Given the description of an element on the screen output the (x, y) to click on. 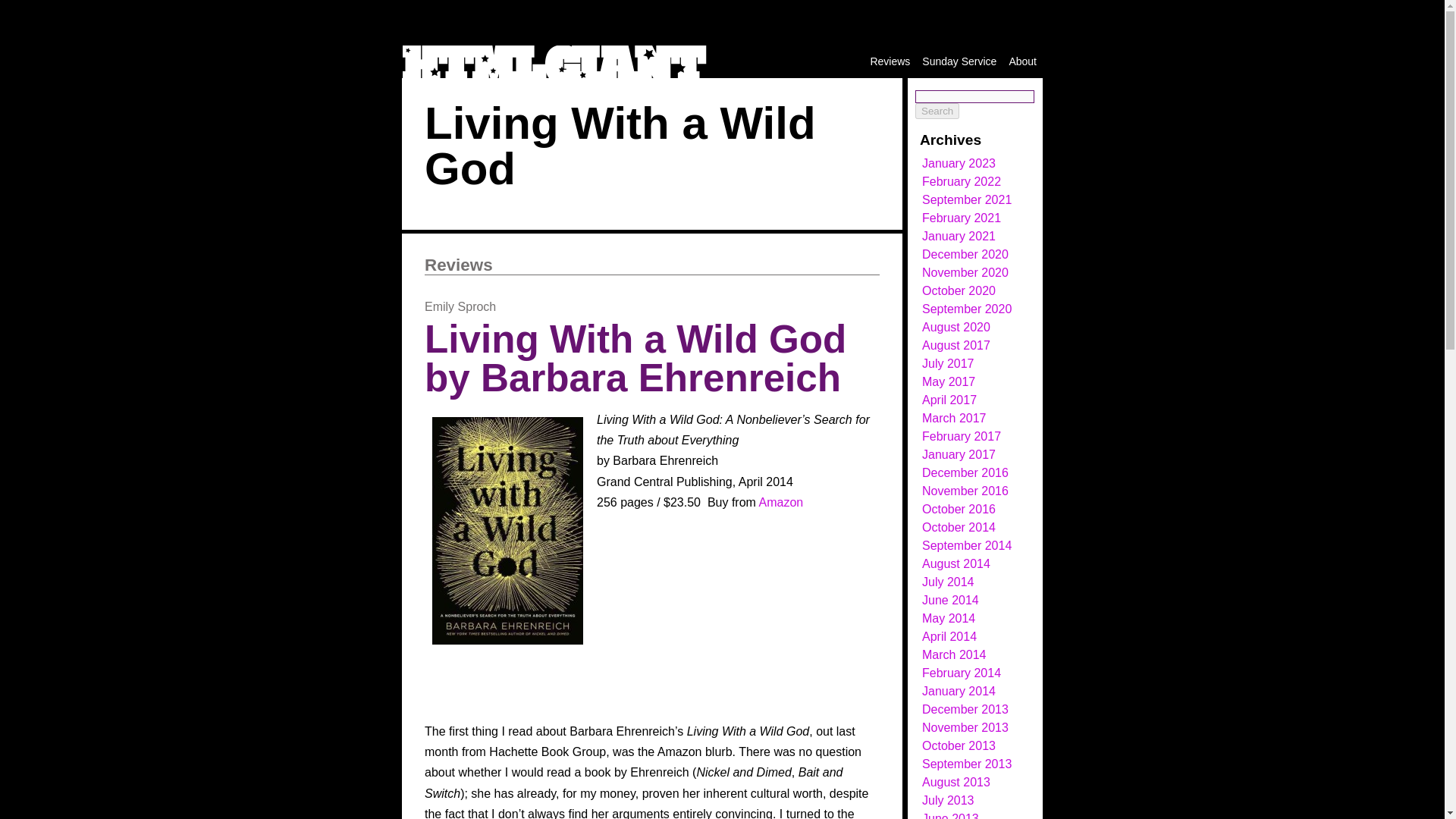
Posts by Emily Sproch (460, 306)
December 2016 (965, 472)
Emily Sproch (460, 306)
September 2020 (966, 308)
July 2014 (947, 581)
January 2017 (958, 454)
Reviews (459, 264)
February 2017 (961, 436)
January 2021 (958, 236)
February 2021 (961, 217)
April 2014 (948, 635)
Amazon (780, 502)
October 2014 (958, 526)
November 2016 (965, 490)
September 2021 (966, 199)
